Given the description of an element on the screen output the (x, y) to click on. 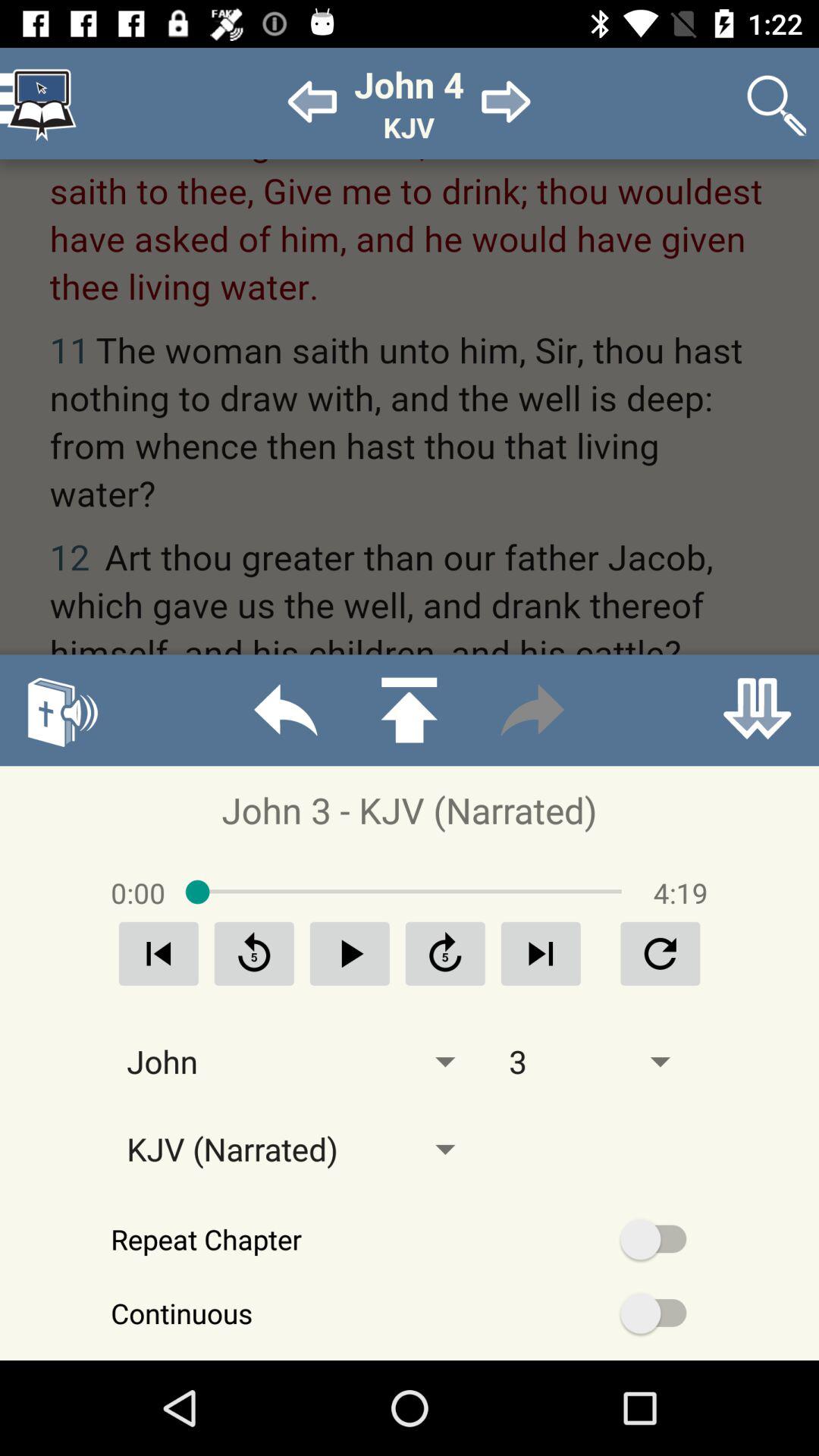
upload option (409, 709)
